Given the description of an element on the screen output the (x, y) to click on. 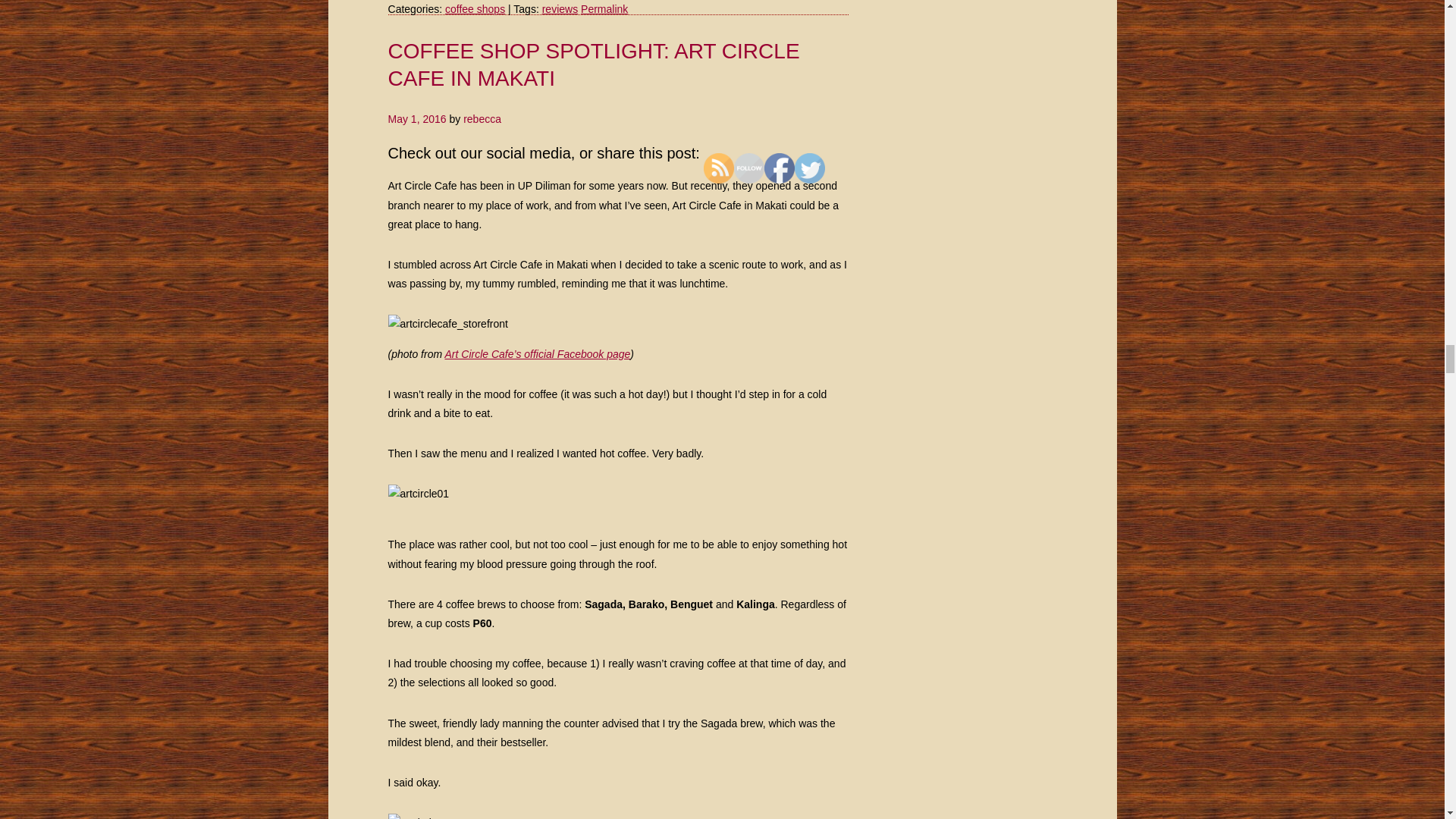
coffee shops (475, 9)
Permalink (603, 9)
reviews (559, 9)
